Given the description of an element on the screen output the (x, y) to click on. 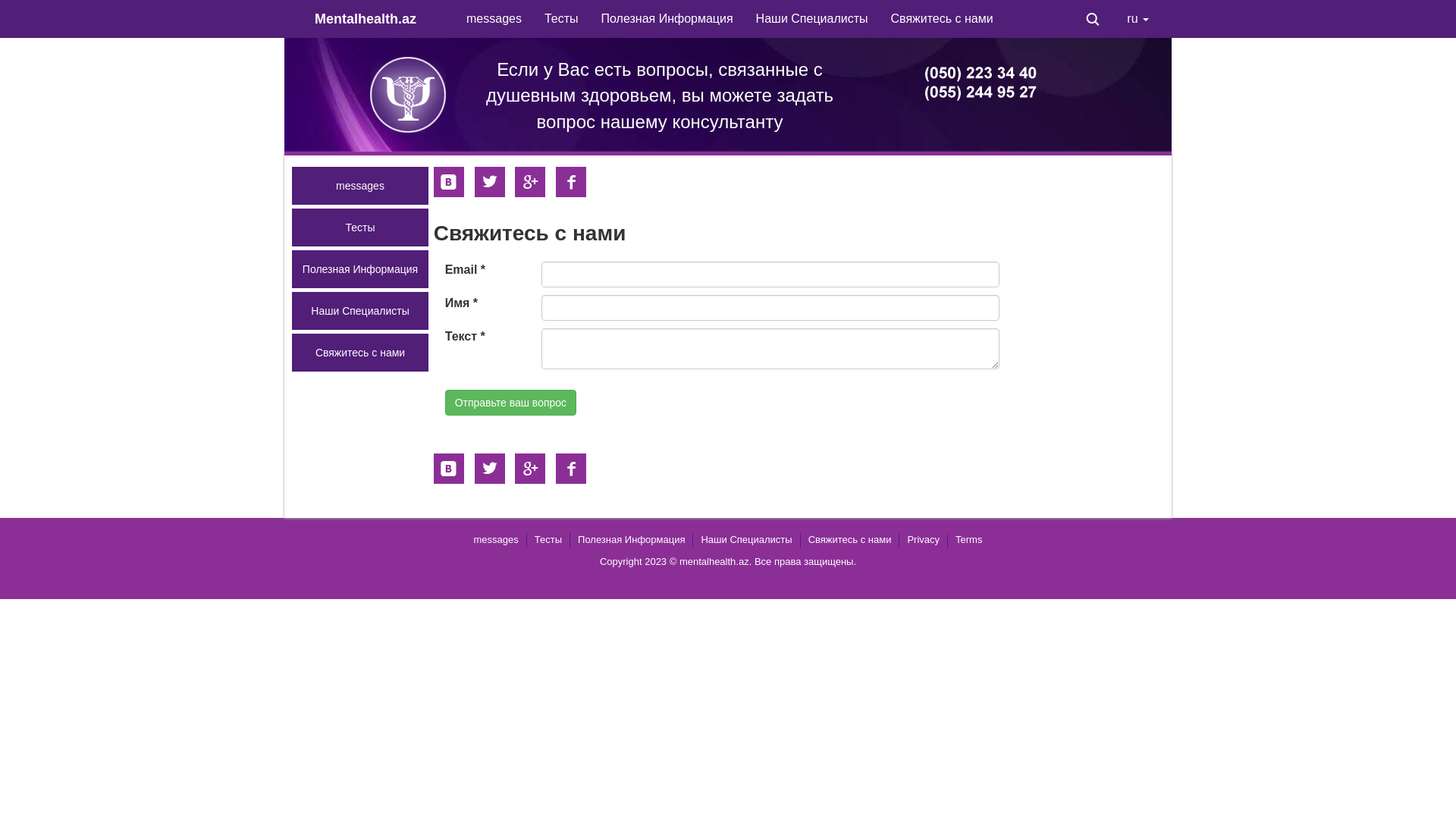
ru Element type: text (1137, 18)
Privacy Element type: text (922, 539)
messages Element type: text (495, 539)
messages Element type: text (359, 185)
Mentalhealth.az Element type: text (379, 18)
messages Element type: text (494, 18)
Terms Element type: text (968, 539)
